Given the description of an element on the screen output the (x, y) to click on. 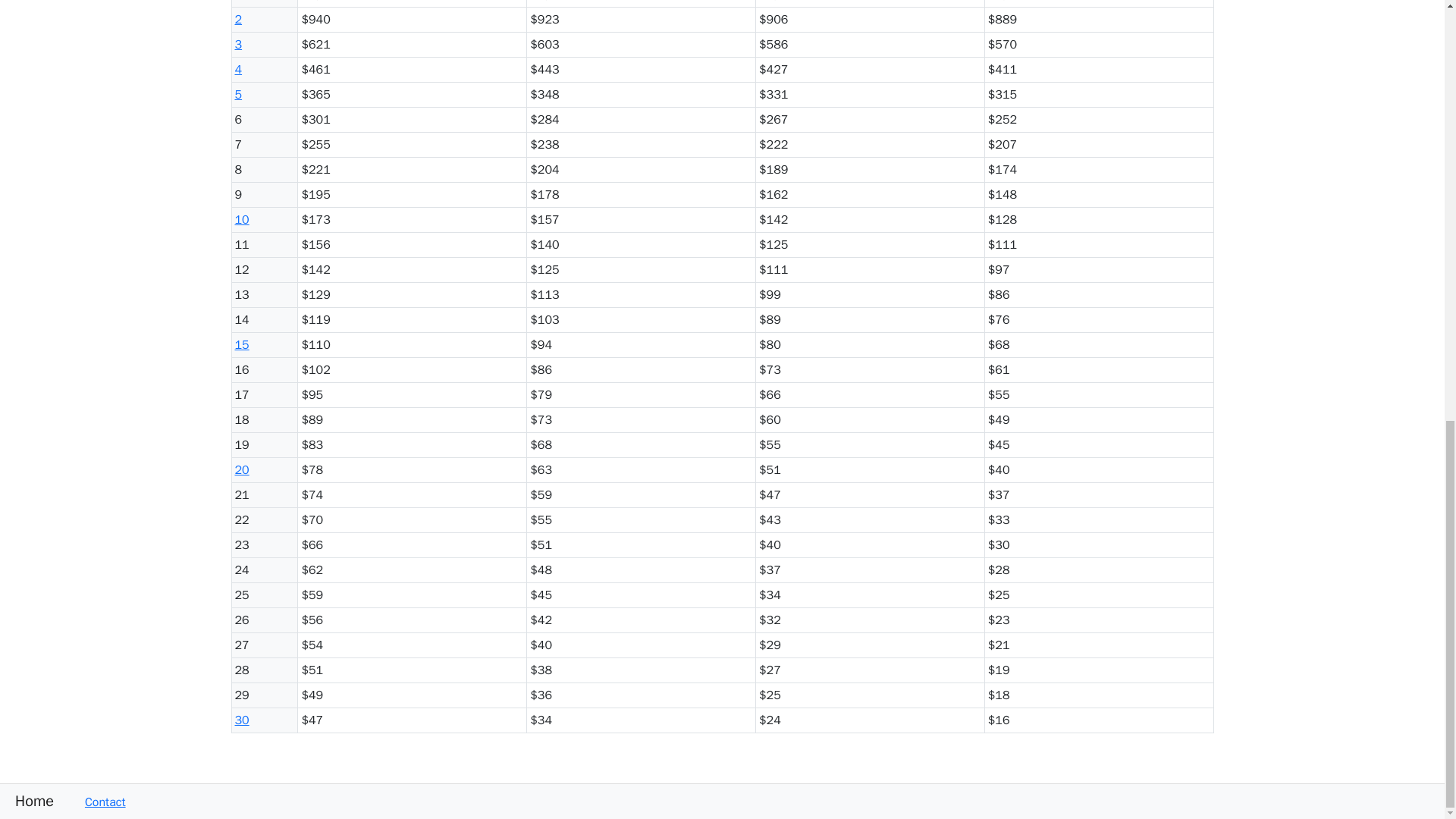
20 (241, 469)
30 (241, 720)
10 (241, 219)
Home (26, 800)
Contact (97, 801)
15 (241, 344)
